Given the description of an element on the screen output the (x, y) to click on. 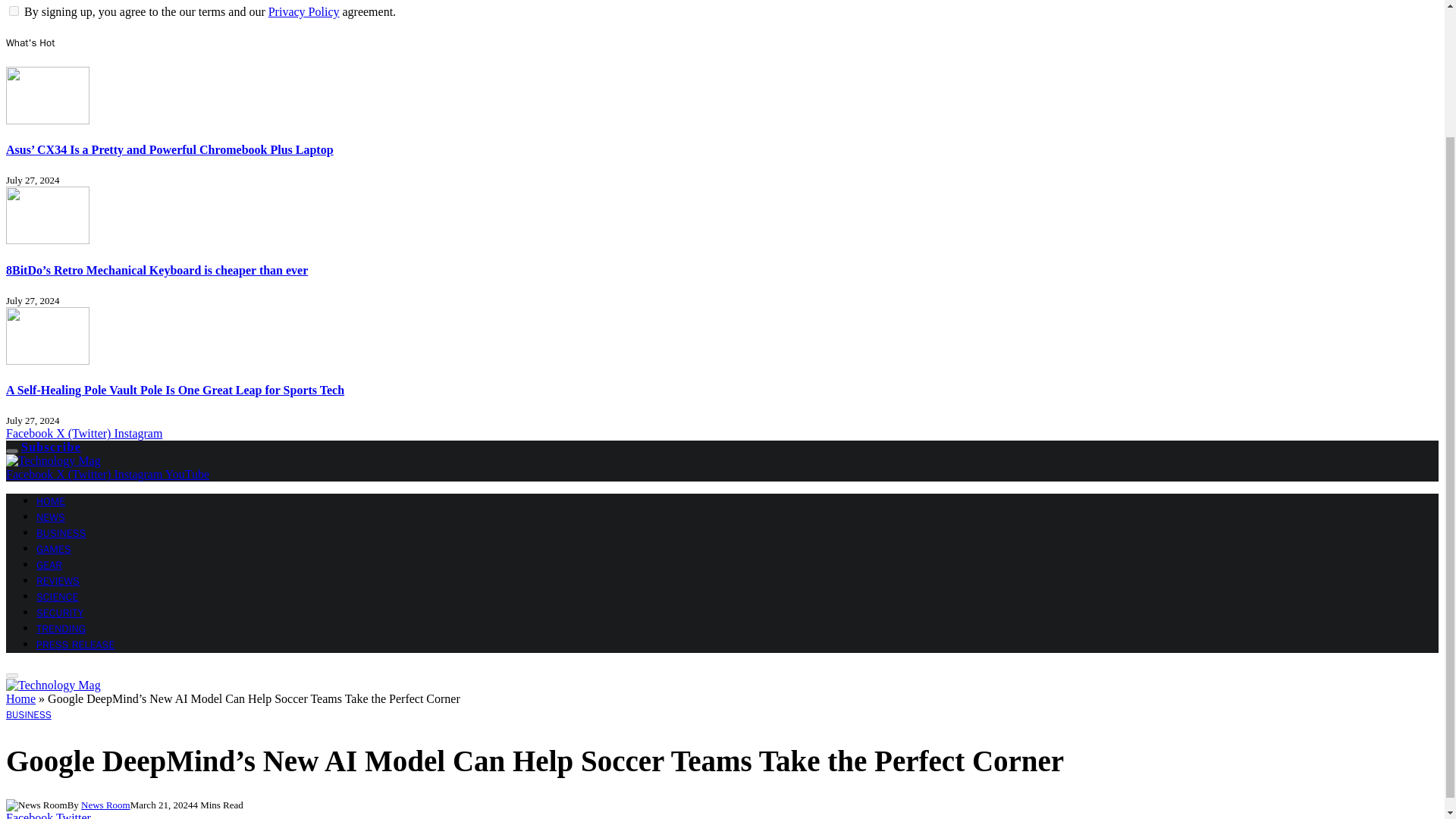
Privacy Policy (303, 11)
Technology Mag (52, 460)
GAMES (53, 549)
SECURITY (59, 612)
Home (19, 698)
Instagram (137, 432)
News Room (106, 804)
Subscribe (51, 446)
TRENDING (60, 628)
SCIENCE (57, 596)
HOME (50, 501)
BUSINESS (60, 533)
Facebook (30, 432)
